Given the description of an element on the screen output the (x, y) to click on. 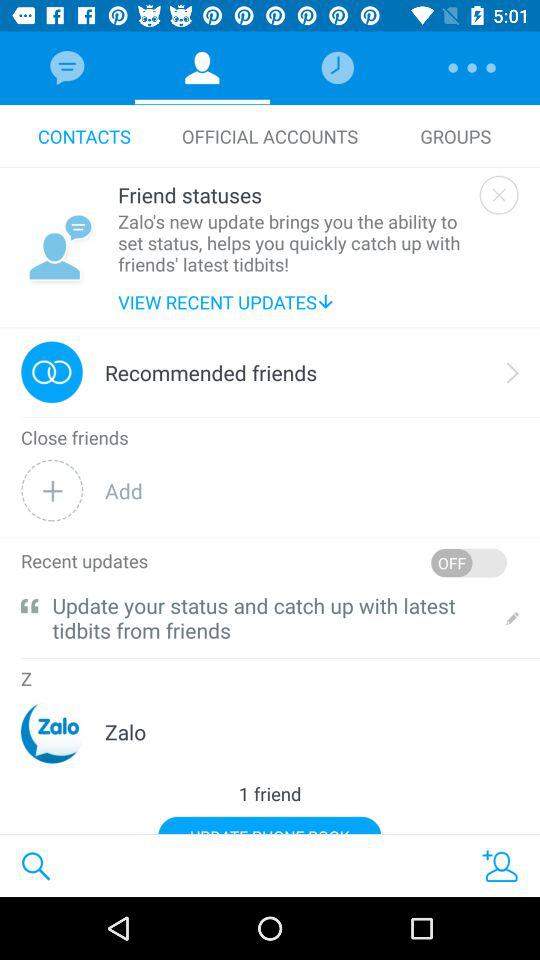
select icon next to the official accounts item (455, 136)
